Given the description of an element on the screen output the (x, y) to click on. 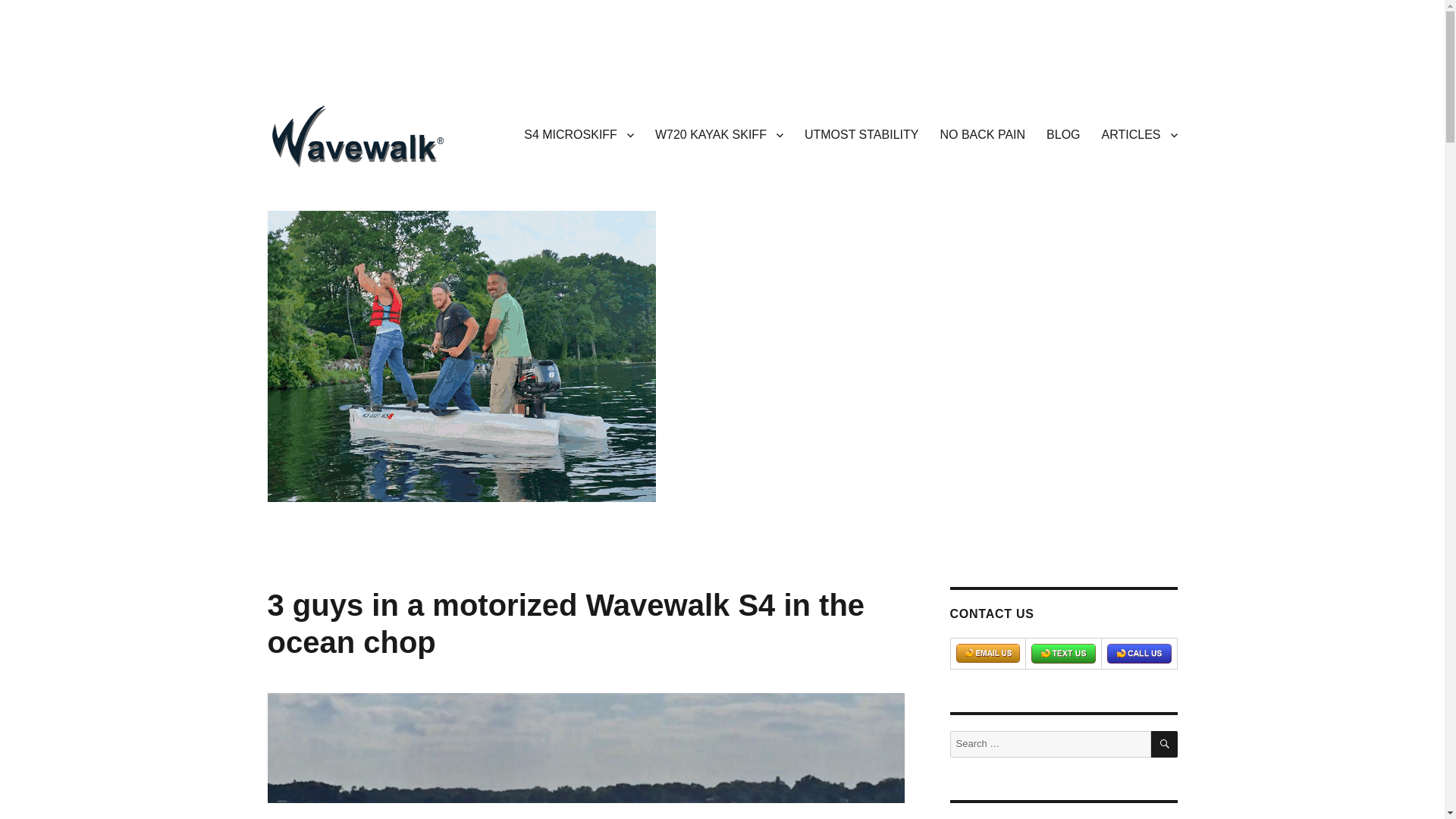
The Most Stable Kayaks and Small Boats (861, 133)
W720 catamaran kayak skiff (719, 133)
NO BACK PAIN (981, 133)
ARTICLES (1139, 133)
BLOG (1062, 133)
W720 KAYAK SKIFF (719, 133)
UTMOST STABILITY (861, 133)
DIRECTORY OF ARTICLES (1139, 133)
Wavewalk S4 cartop cat microskiff (579, 133)
STABLE KAYAKS AND MICROSKIFFS MADE BY WAVEWALK (571, 191)
BACK-PAIN FREE KAYAKS: No more kayaking back pain (981, 133)
S4 MICROSKIFF (579, 133)
